Given the description of an element on the screen output the (x, y) to click on. 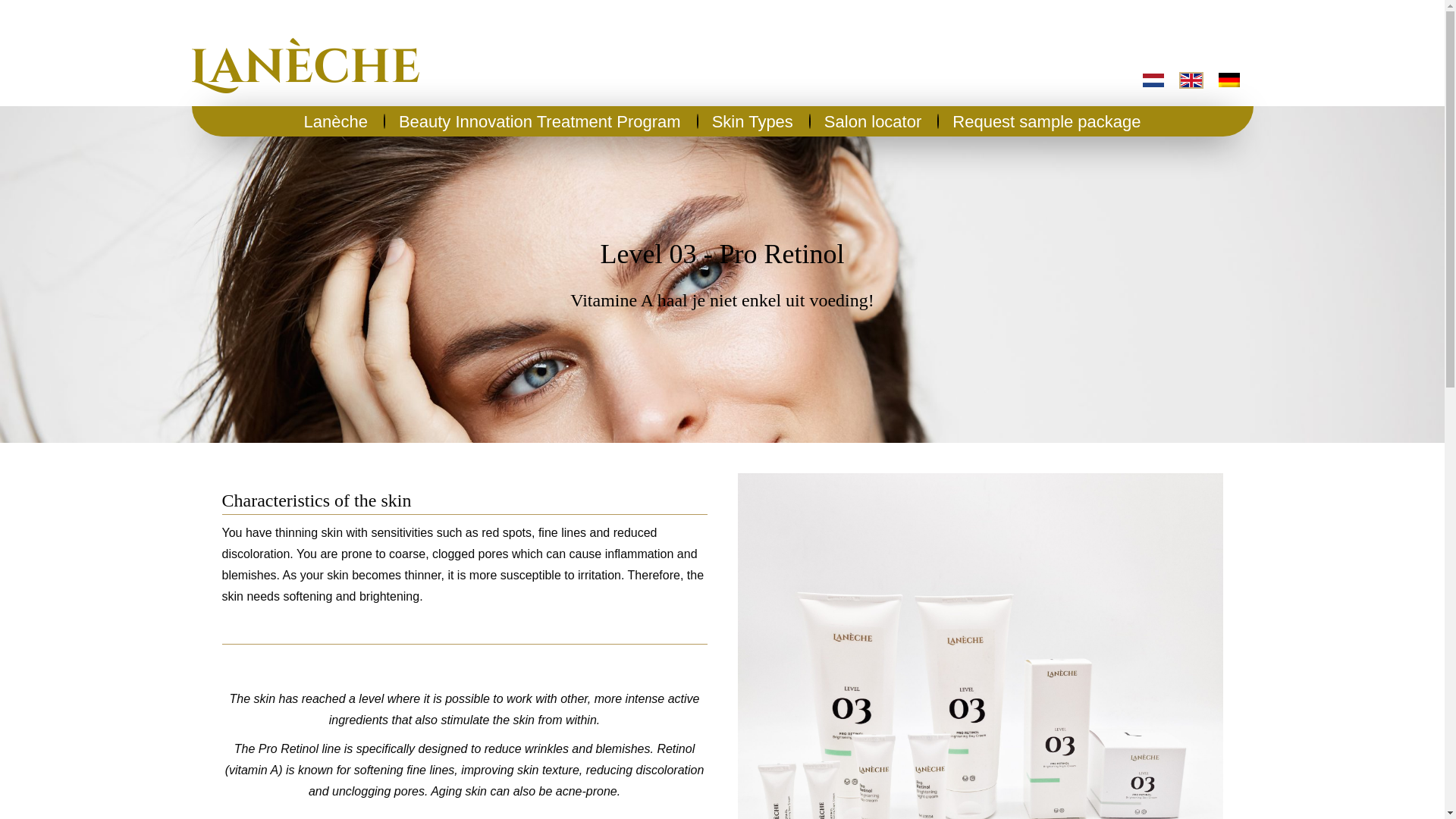
Beauty Innovation Treatment Program (539, 122)
Request sample package (1046, 122)
Salon locator (872, 122)
Skin Types (752, 122)
logo (304, 65)
